Given the description of an element on the screen output the (x, y) to click on. 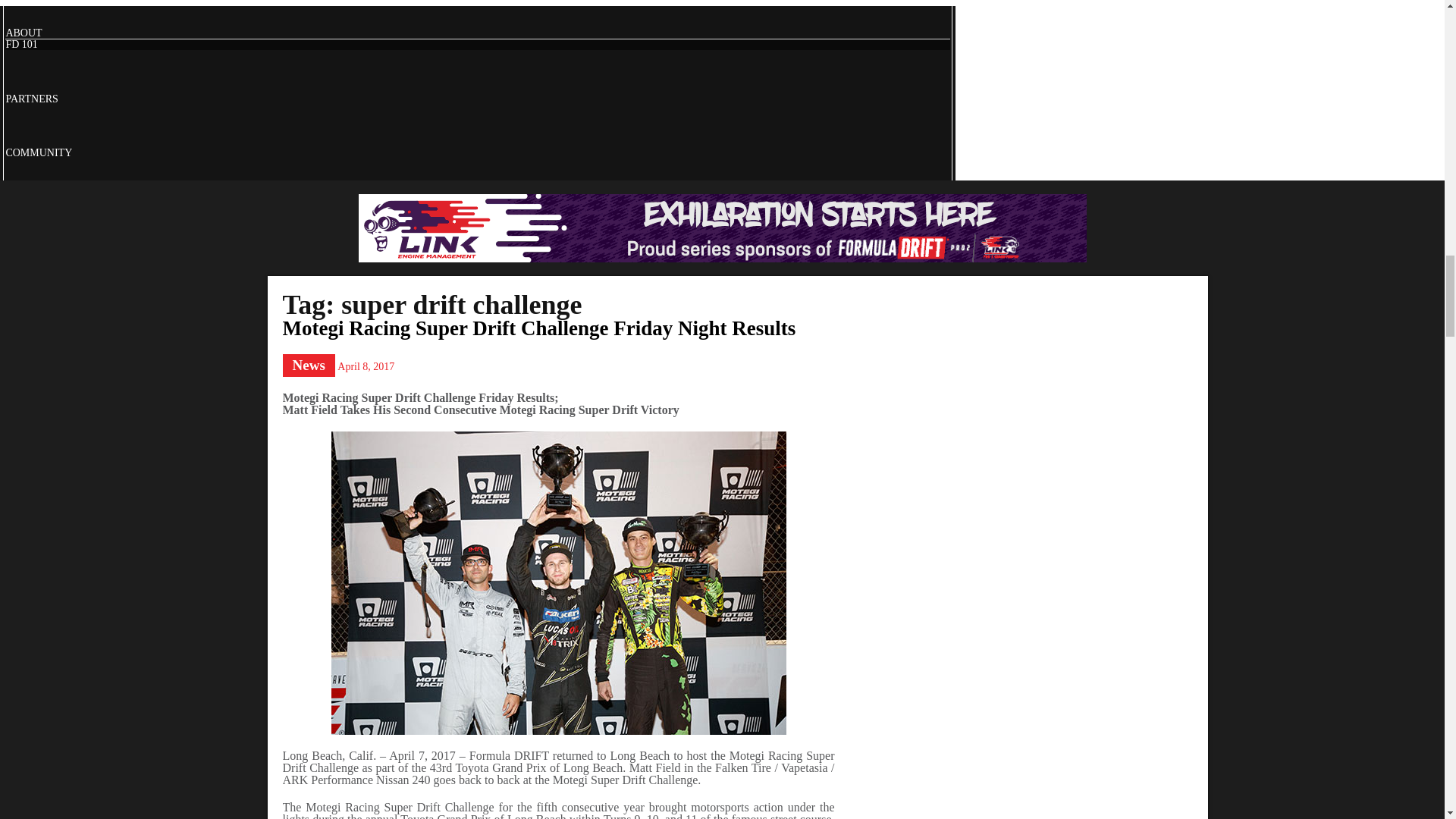
PARTNERS (31, 98)
ABOUT (23, 32)
COMMUNITY (38, 152)
FD 101 (21, 43)
